Given the description of an element on the screen output the (x, y) to click on. 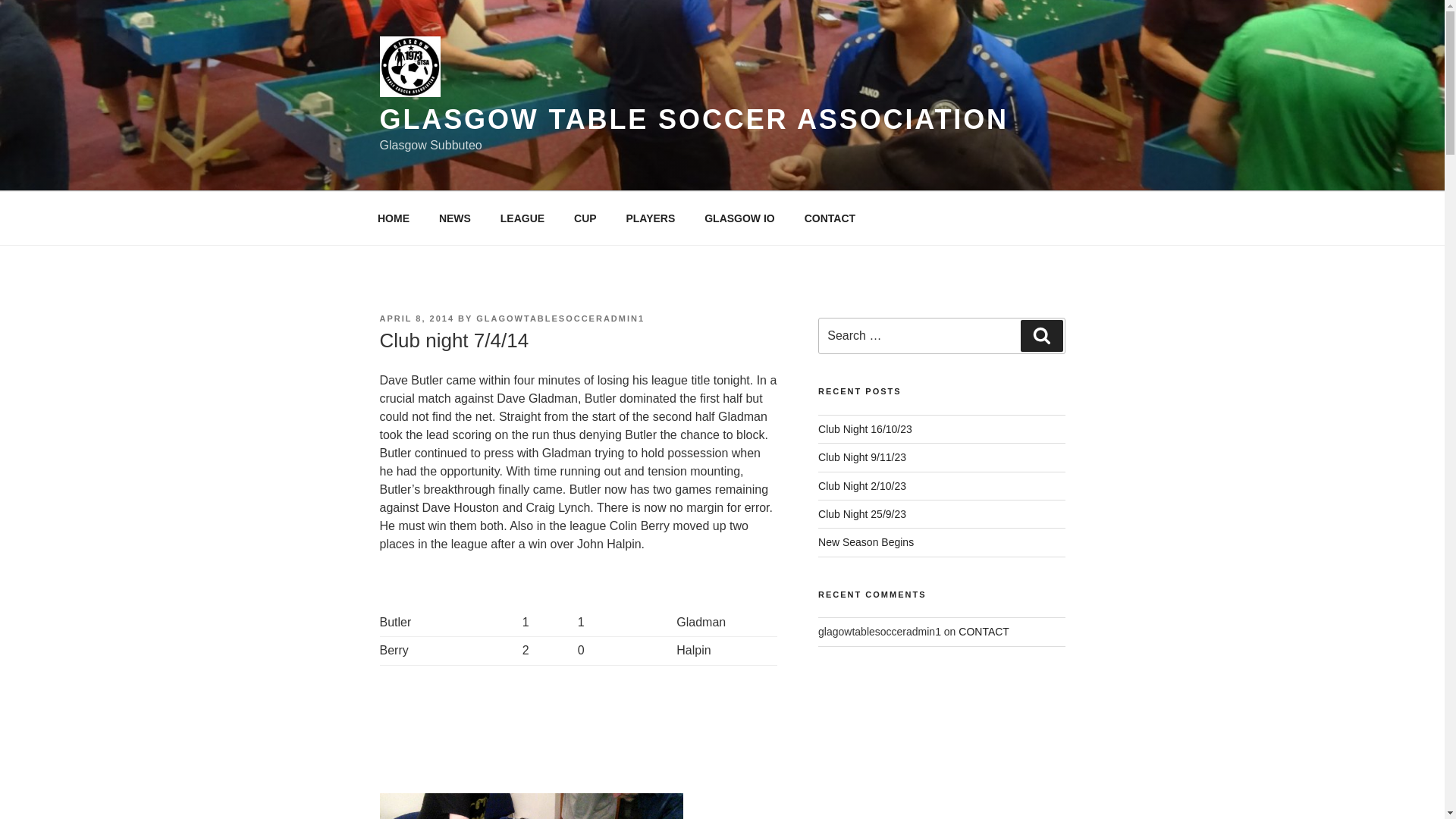
Search (1041, 336)
CONTACT (983, 631)
LEAGUE (521, 218)
APRIL 8, 2014 (416, 317)
CONTACT (828, 218)
PLAYERS (650, 218)
GLASGOW TABLE SOCCER ASSOCIATION (693, 119)
GLASGOW IO (740, 218)
GLAGOWTABLESOCCERADMIN1 (560, 317)
HOME (393, 218)
CUP (585, 218)
New Season Begins (866, 541)
NEWS (454, 218)
